Given the description of an element on the screen output the (x, y) to click on. 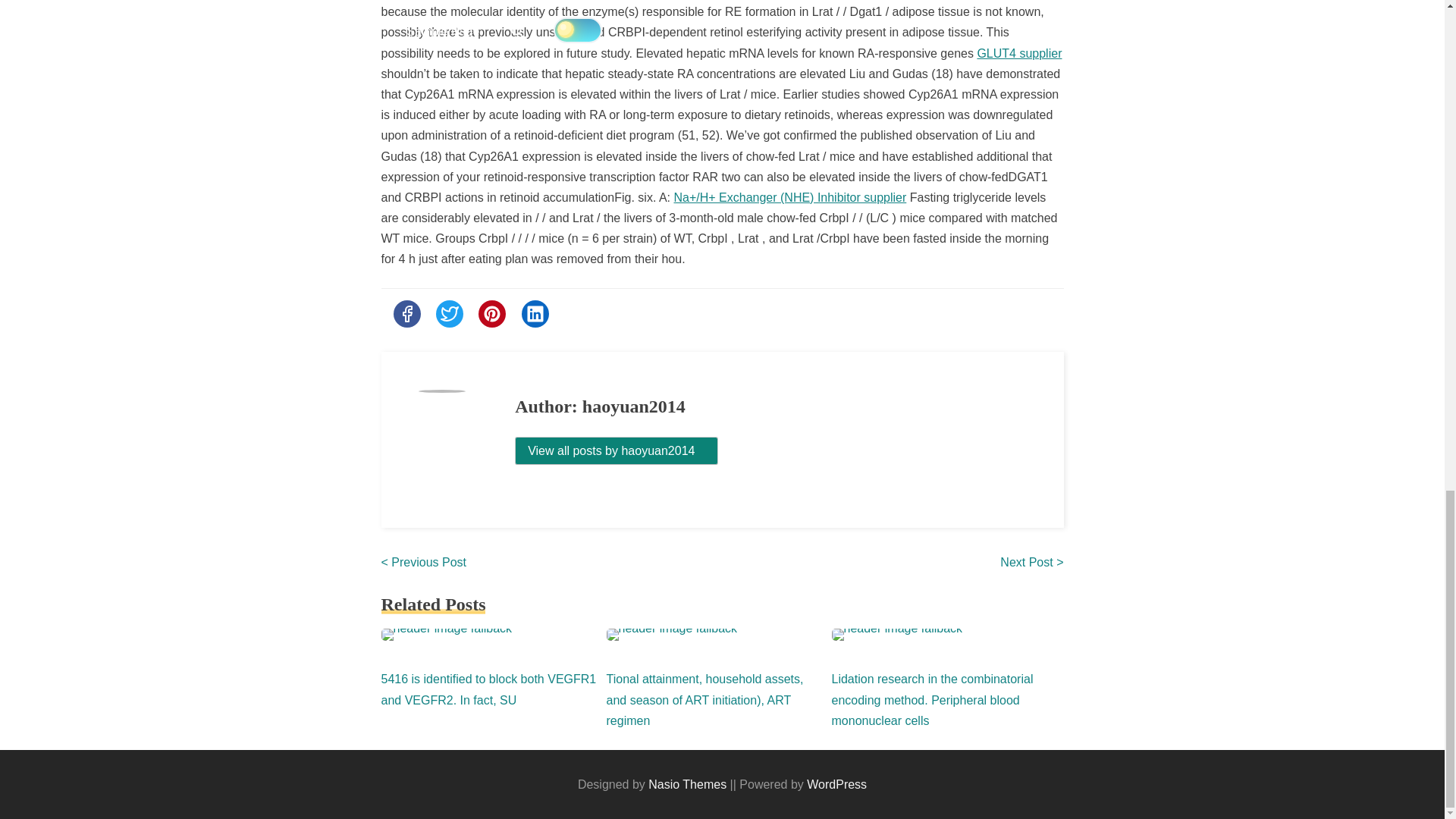
View all posts by haoyuan2014 (616, 450)
GLUT4 supplier (1018, 52)
Share this post on Linkedin (534, 313)
Share this post on Pinterest (492, 313)
View all posts by haoyuan2014 (615, 450)
Share this post on Facebook (406, 313)
Share this post on Twitter (449, 313)
